Given the description of an element on the screen output the (x, y) to click on. 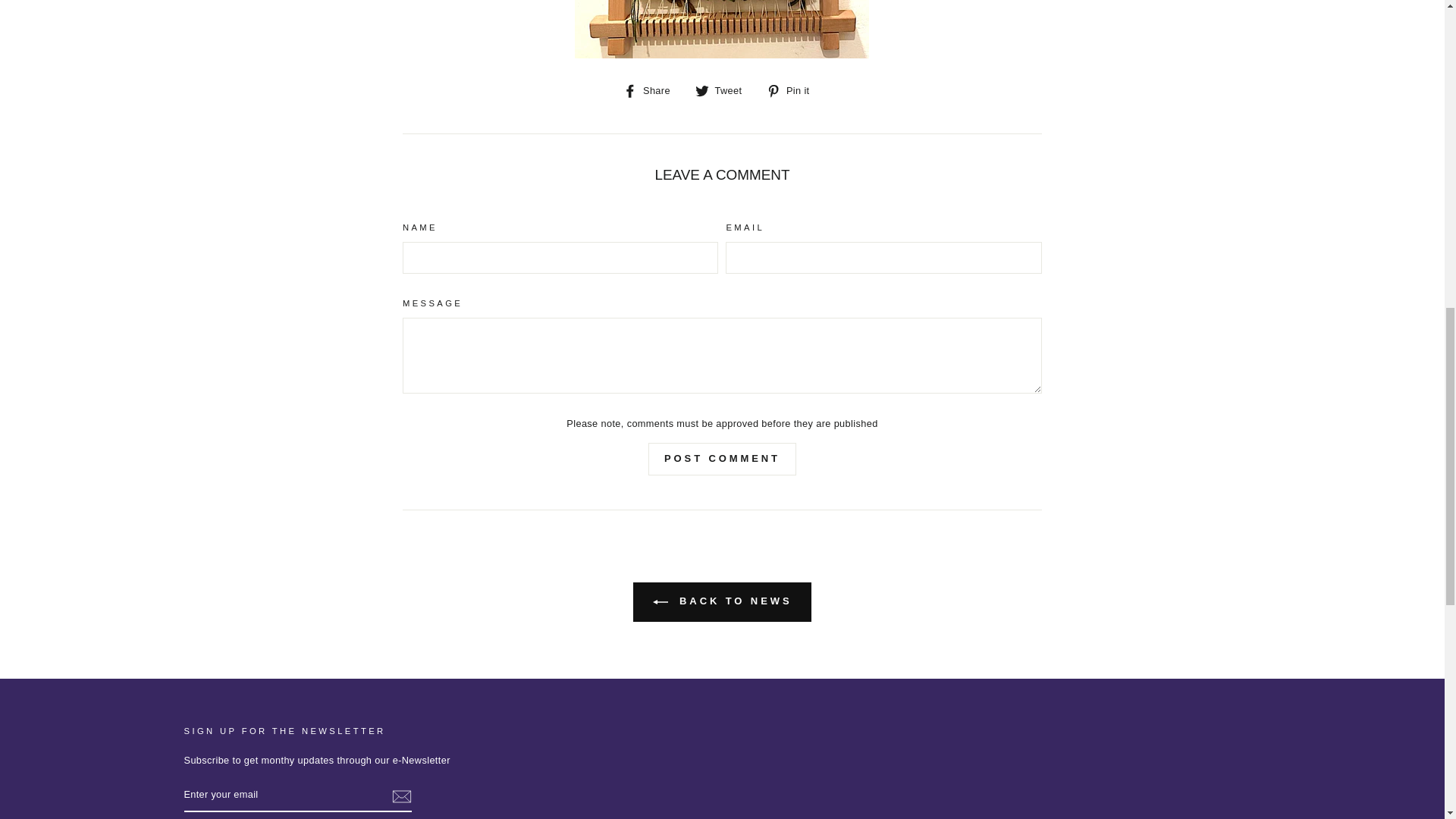
Share on Facebook (652, 90)
Tweet on Twitter (723, 90)
Pin on Pinterest (794, 90)
